Given the description of an element on the screen output the (x, y) to click on. 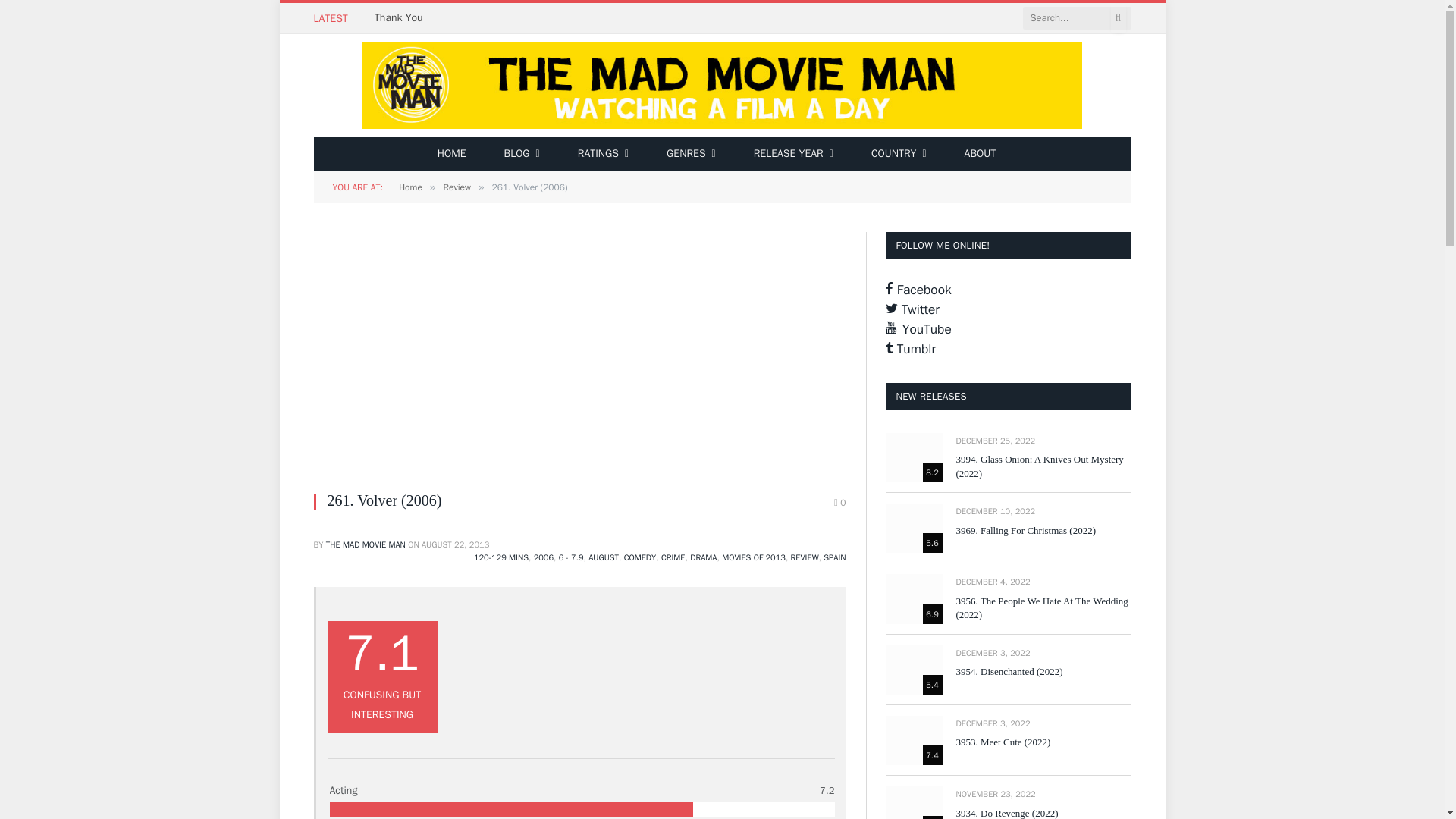
HOME (451, 153)
Posts by The Mad Movie Man (366, 543)
2013-08-22 (455, 543)
BLOG (520, 153)
Thank You (402, 18)
The Mad Movie Man (722, 85)
RATINGS (603, 153)
